Given the description of an element on the screen output the (x, y) to click on. 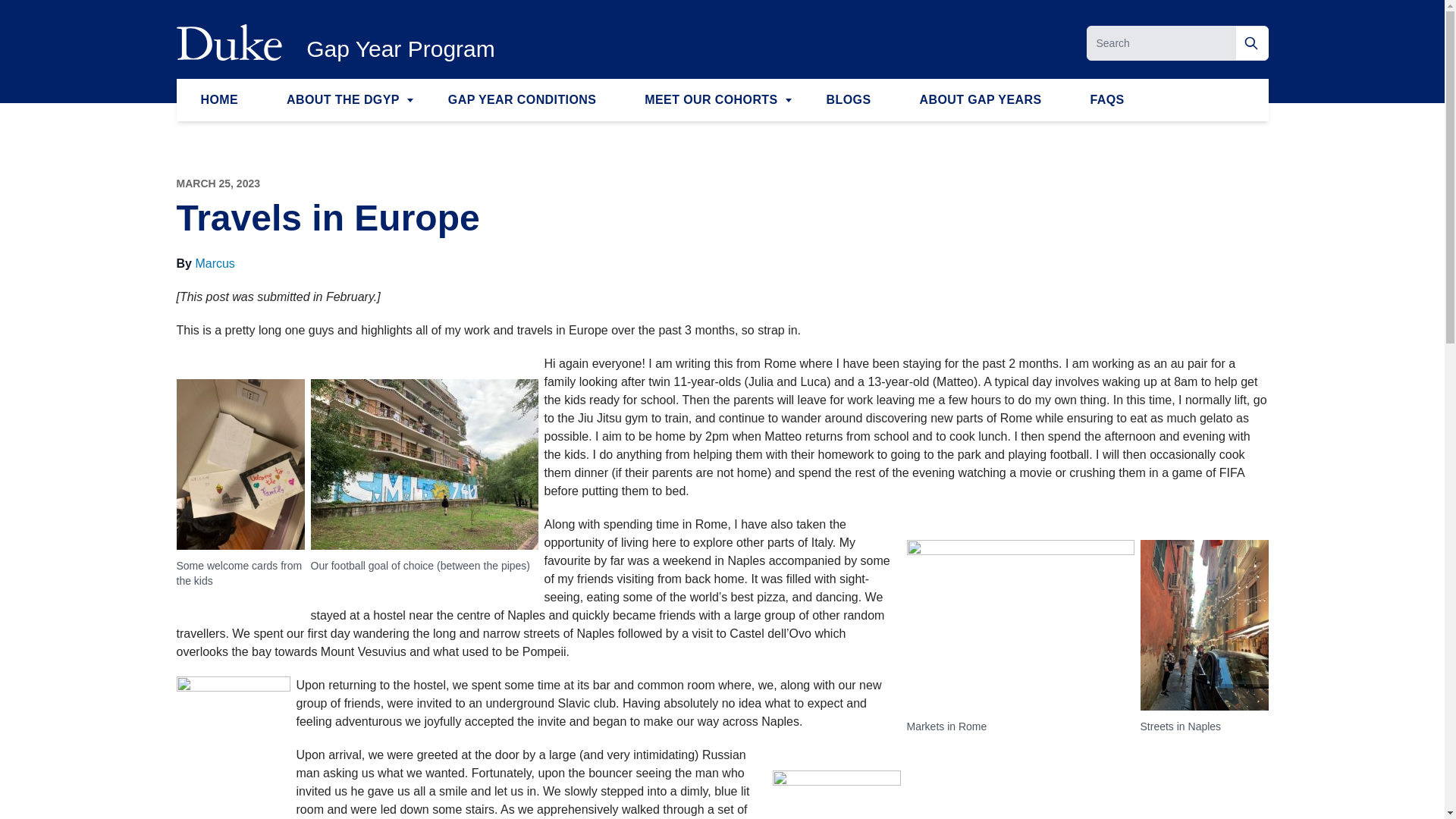
BLOGS (848, 99)
Search (1252, 42)
GAP YEAR CONDITIONS (521, 99)
ABOUT GAP YEARS (980, 99)
Skip to content (40, 21)
FAQS (1106, 99)
ABOUT THE DGYP (342, 99)
Travels in Europe (327, 218)
MEET OUR COHORTS (711, 99)
Gap Year Program (400, 48)
